Given the description of an element on the screen output the (x, y) to click on. 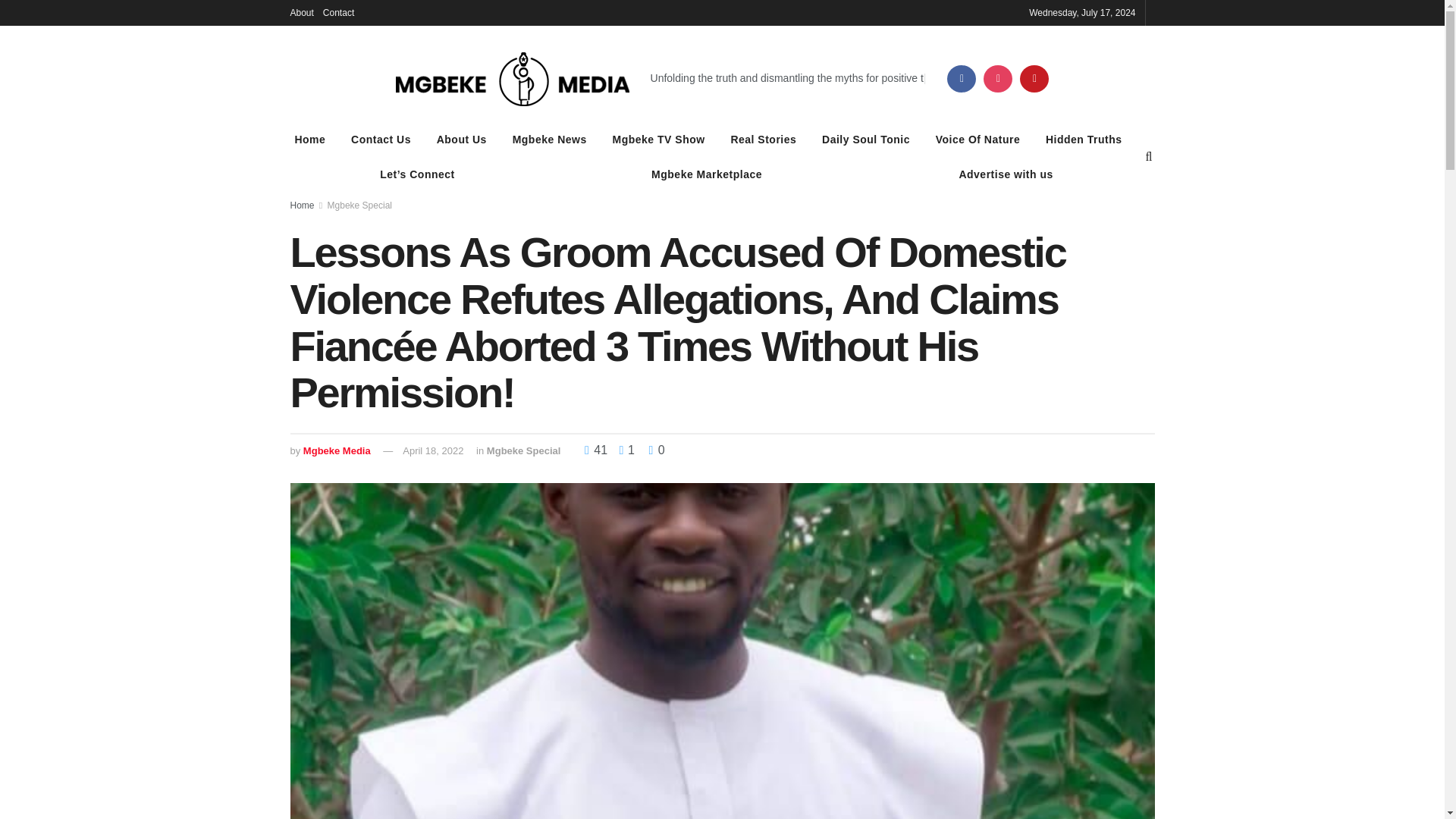
1 (622, 449)
Voice Of Nature (978, 138)
About Us (461, 138)
Mgbeke Special (359, 204)
Mgbeke Special (523, 450)
Mgbeke TV Show (658, 138)
Contact (338, 12)
Advertise with us (1005, 174)
Contact Us (380, 138)
Home (309, 138)
About (301, 12)
Hidden Truths (1083, 138)
0 (655, 449)
Mgbeke Marketplace (705, 174)
